Given the description of an element on the screen output the (x, y) to click on. 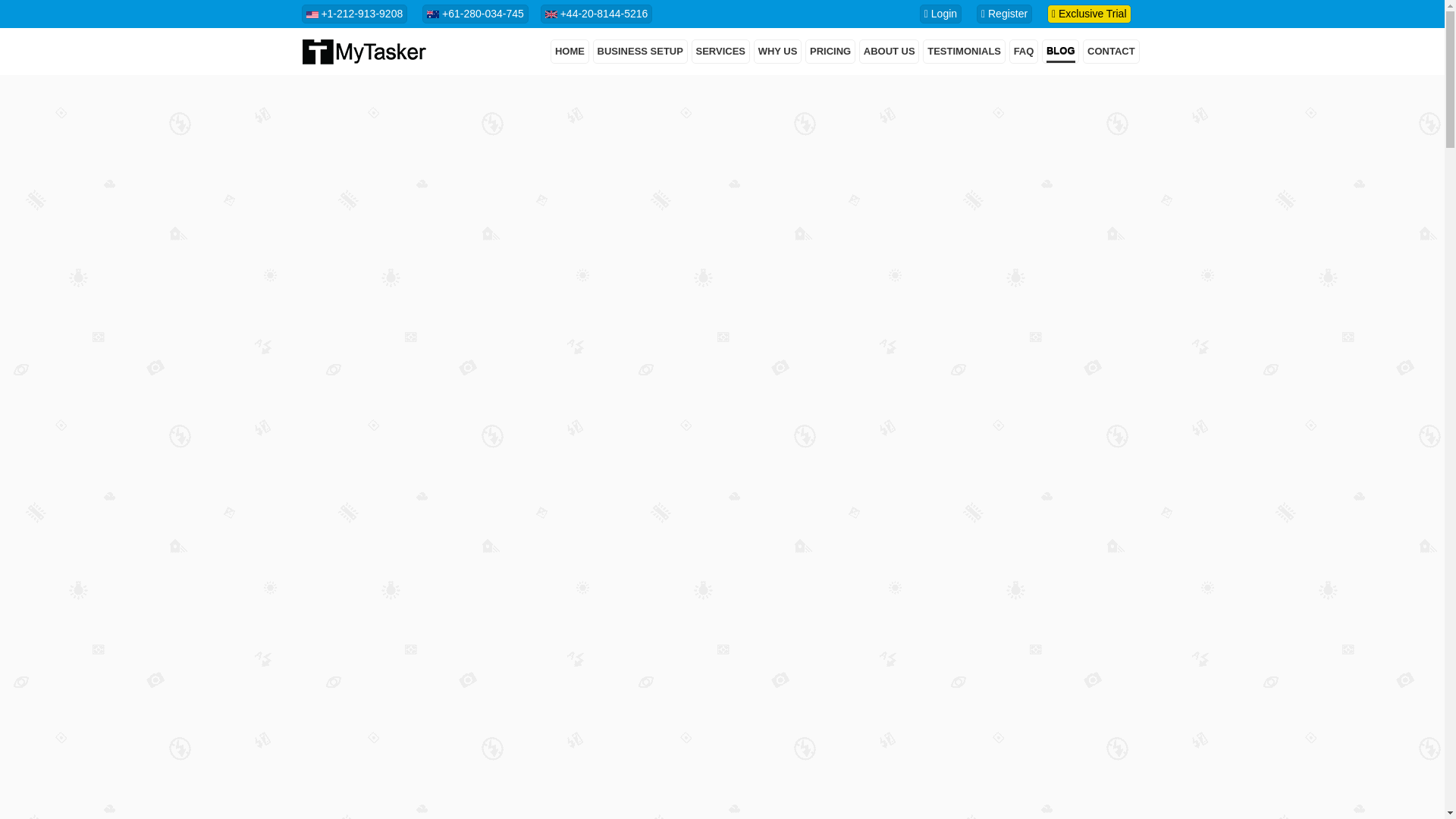
BUSINESS SETUP (639, 51)
FAQ (1023, 51)
TESTIMONIALS (964, 51)
Login (947, 13)
HOME (569, 51)
PRICING (829, 51)
WHY US (777, 51)
Register (1009, 13)
BLOG (1060, 51)
CONTACT (1111, 51)
